Given the description of an element on the screen output the (x, y) to click on. 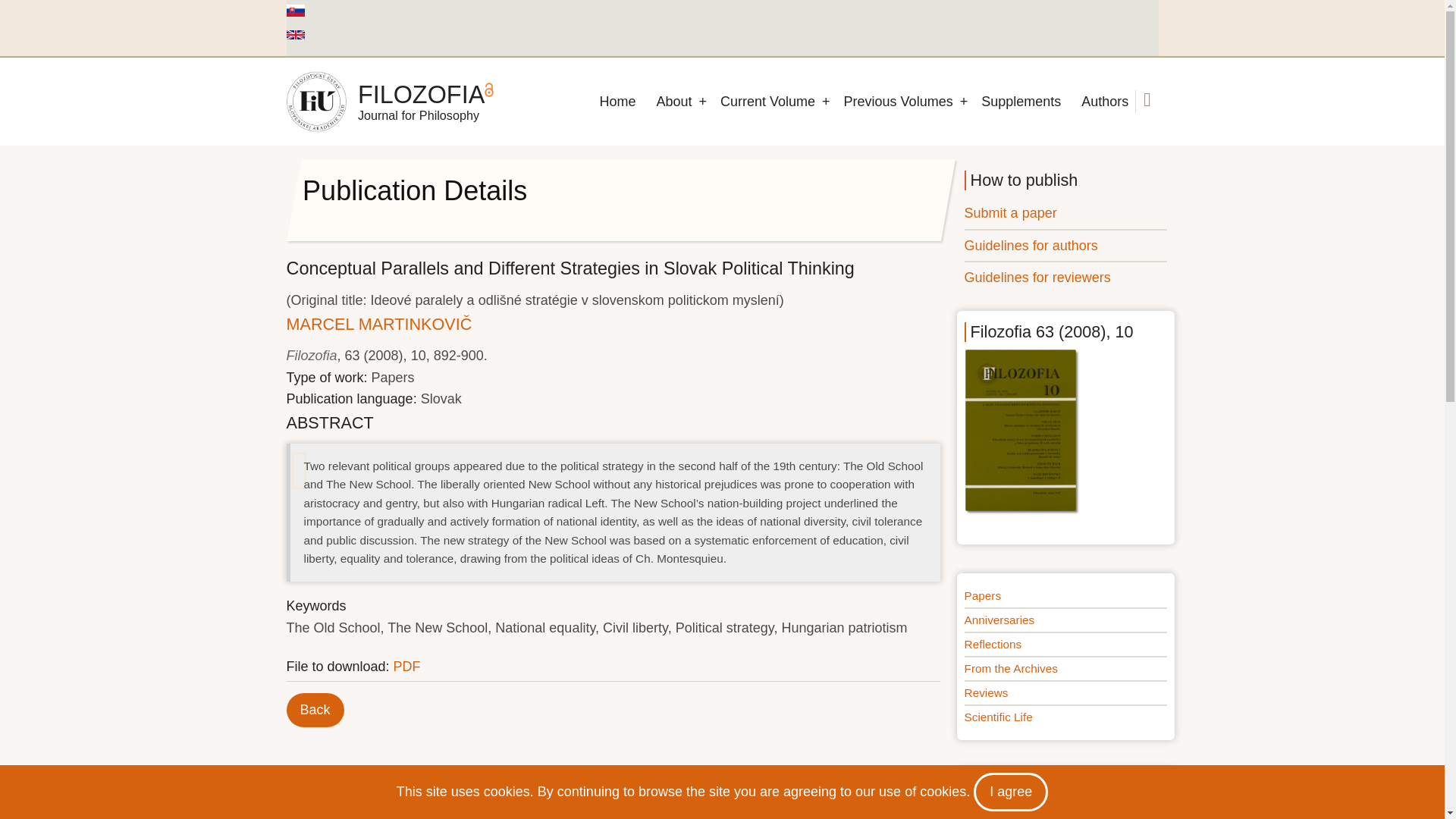
Current Volume (767, 101)
Supplements (1020, 101)
FILOZOFIA (421, 94)
Authors (1104, 101)
Home (421, 94)
Home (617, 101)
Home (316, 101)
English (295, 34)
About (673, 101)
Previous Volumes (898, 101)
